Given the description of an element on the screen output the (x, y) to click on. 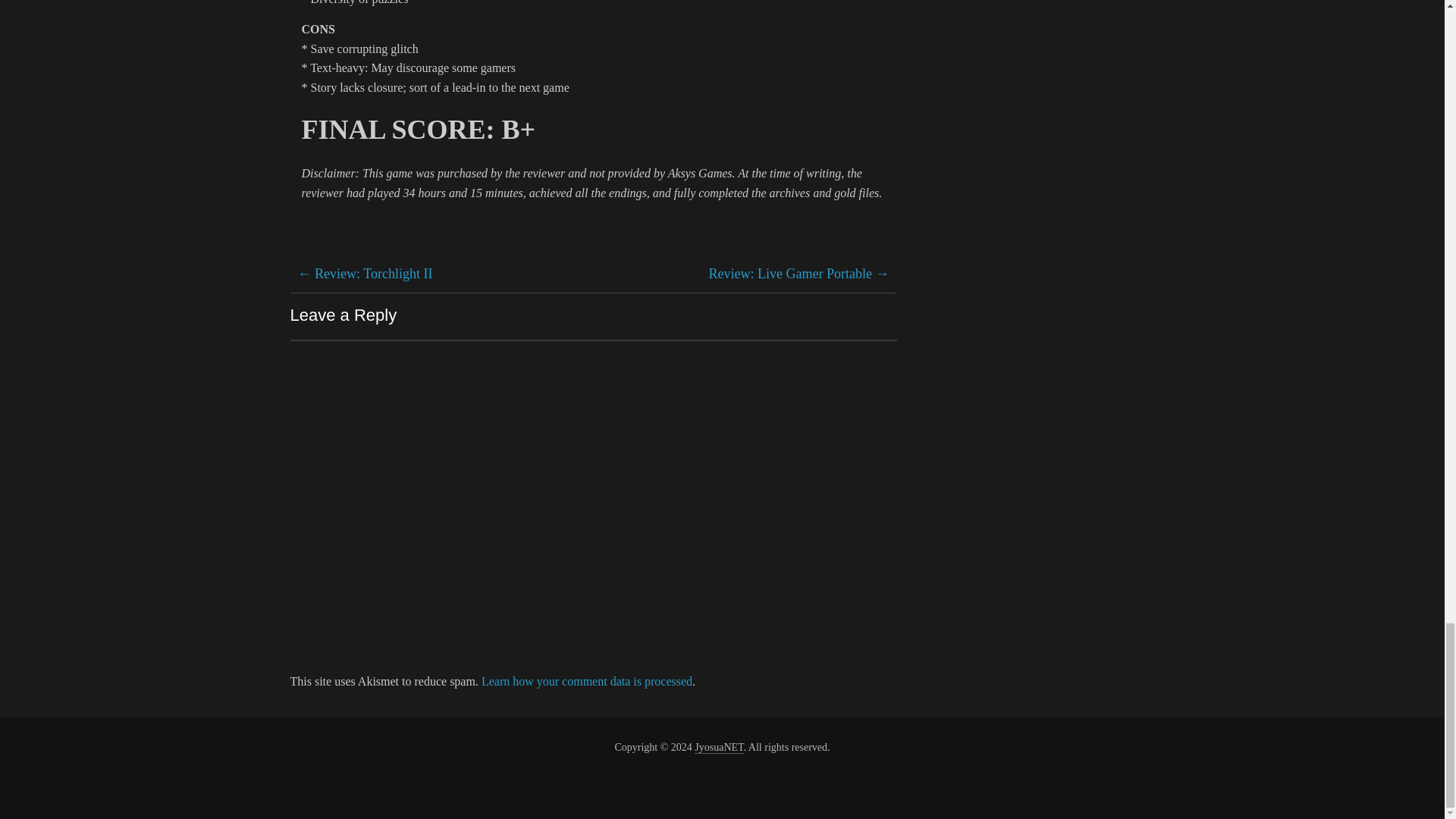
Learn how your comment data is processed (587, 680)
JyosuaNET (718, 747)
JyosuaNET (718, 747)
